Given the description of an element on the screen output the (x, y) to click on. 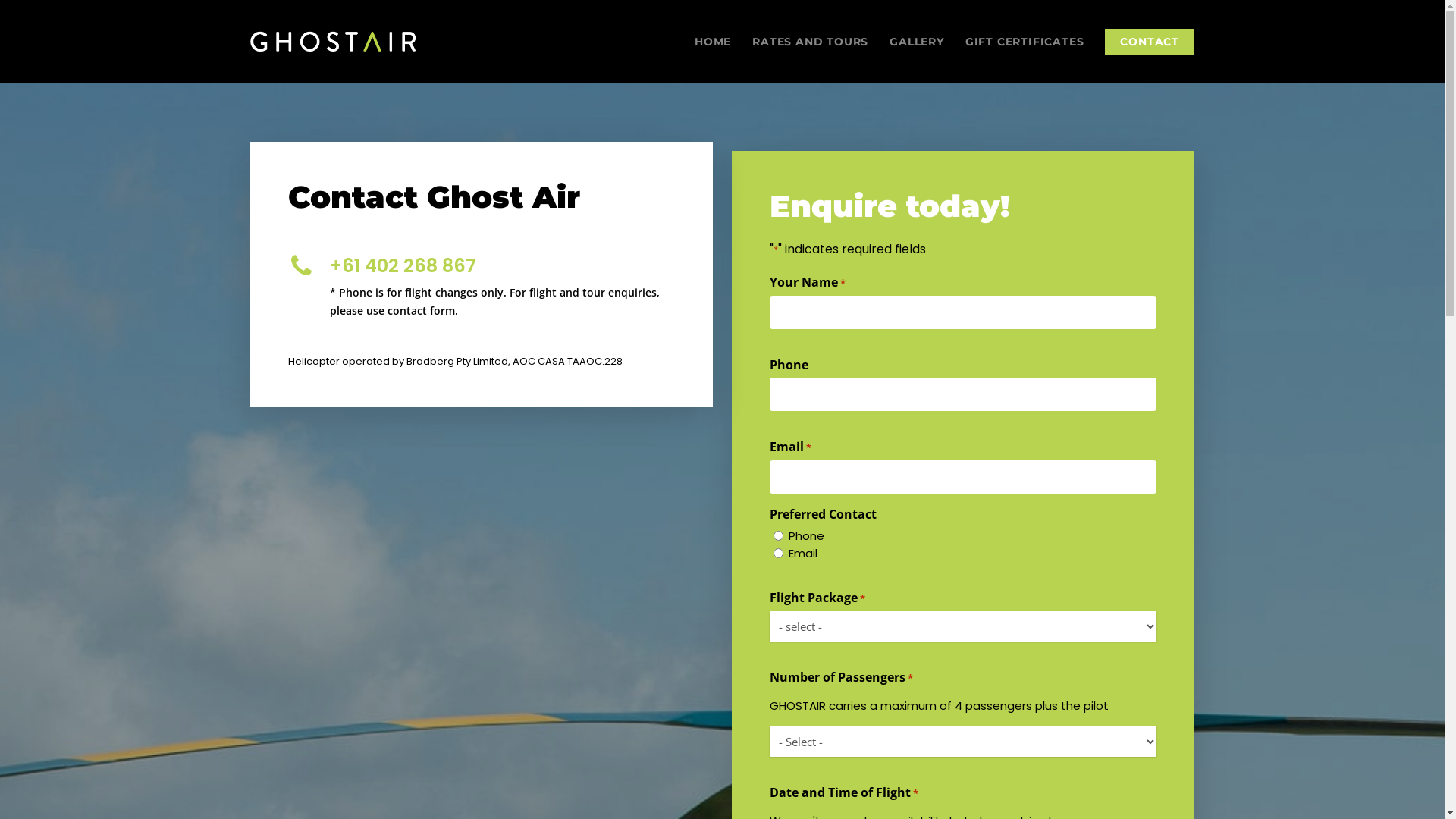
+61 402 268 867 Element type: text (402, 265)
RATES AND TOURS Element type: text (810, 41)
GALLERY Element type: text (916, 41)
HOME Element type: text (712, 41)
GIFT CERTIFICATES Element type: text (1024, 41)
CONTACT Element type: text (1149, 41)
